Given the description of an element on the screen output the (x, y) to click on. 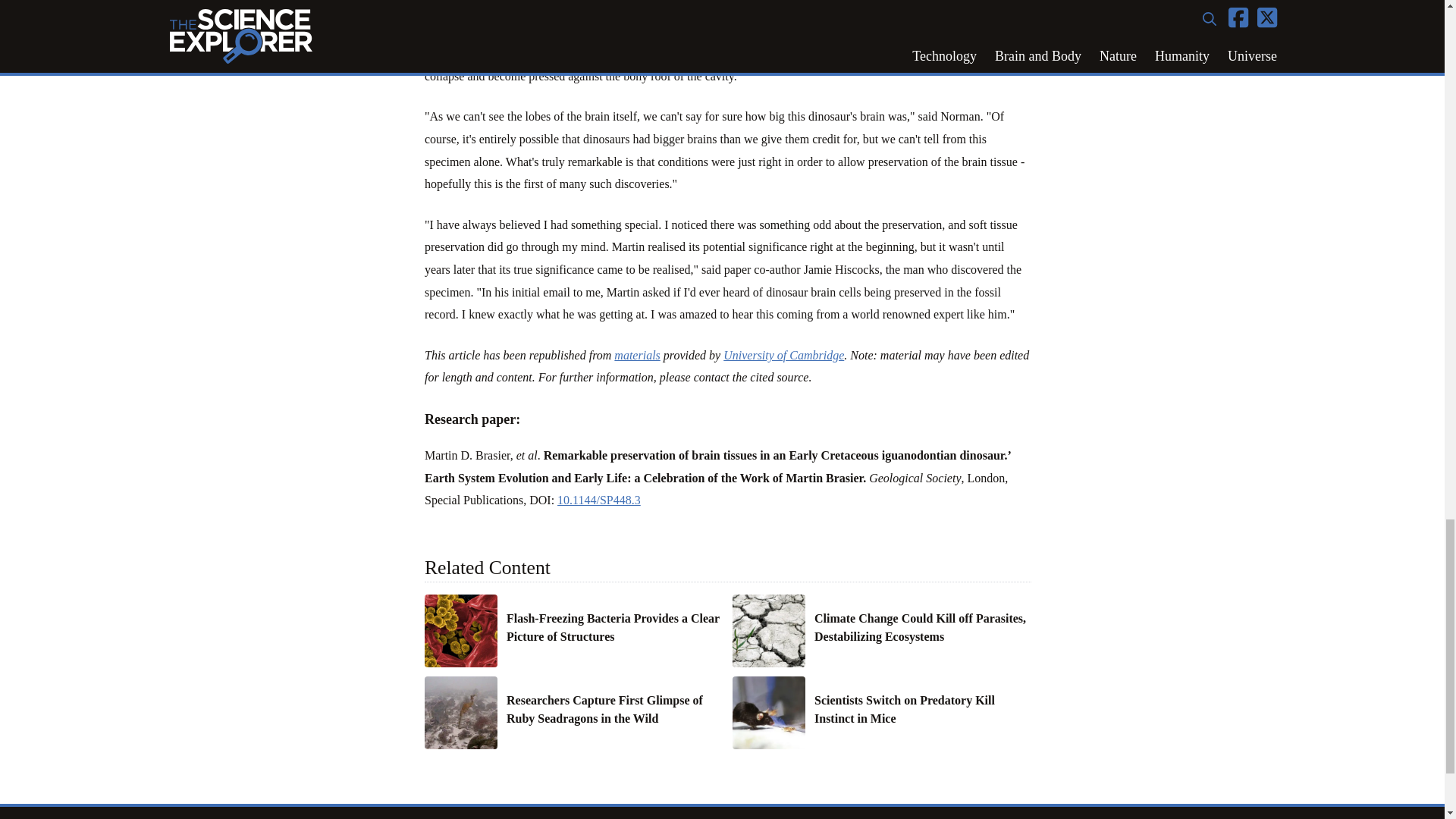
University of Cambridge (783, 354)
materials (636, 354)
